Given the description of an element on the screen output the (x, y) to click on. 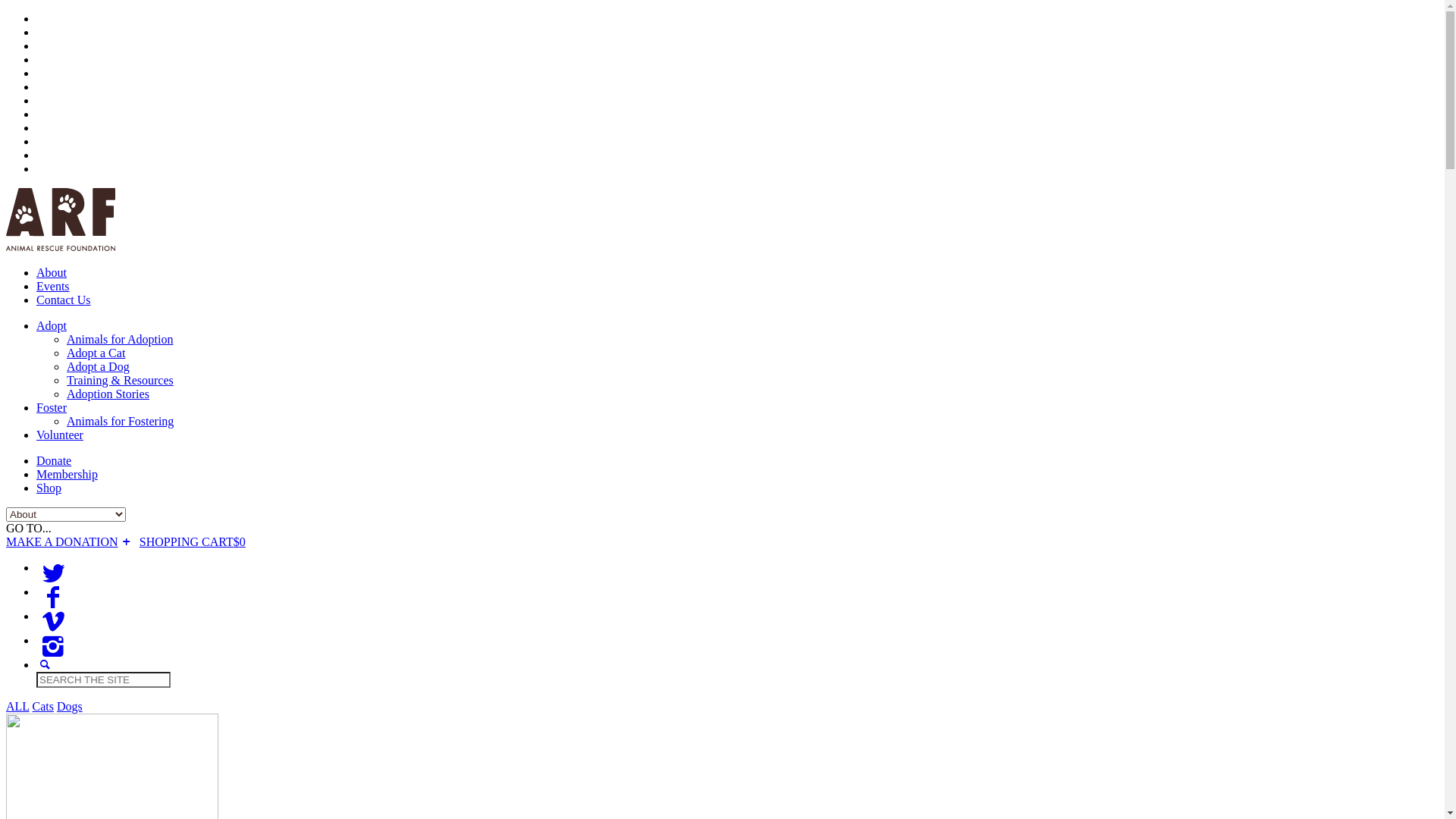
MAKE A DONATION Element type: text (71, 541)
Adopt Element type: text (51, 325)
About Element type: text (51, 272)
Volunteer Element type: text (59, 434)
Adoption Stories Element type: text (107, 393)
Animals for Adoption Element type: text (119, 338)
Adopt a Dog Element type: text (97, 366)
Adopt a Cat Element type: text (95, 352)
Cats Element type: text (42, 705)
Shop Element type: text (48, 487)
Events Element type: text (52, 285)
Contact Us Element type: text (63, 299)
Animals for Fostering Element type: text (119, 420)
SHOPPING CART$0 Element type: text (192, 541)
Training & Resources Element type: text (119, 379)
Membership Element type: text (66, 473)
Donate Element type: text (53, 460)
Dogs Element type: text (69, 705)
Animal Rescue Foundation (ARF) Element type: hover (60, 246)
Foster Element type: text (51, 407)
ALL Element type: text (17, 705)
